Given the description of an element on the screen output the (x, y) to click on. 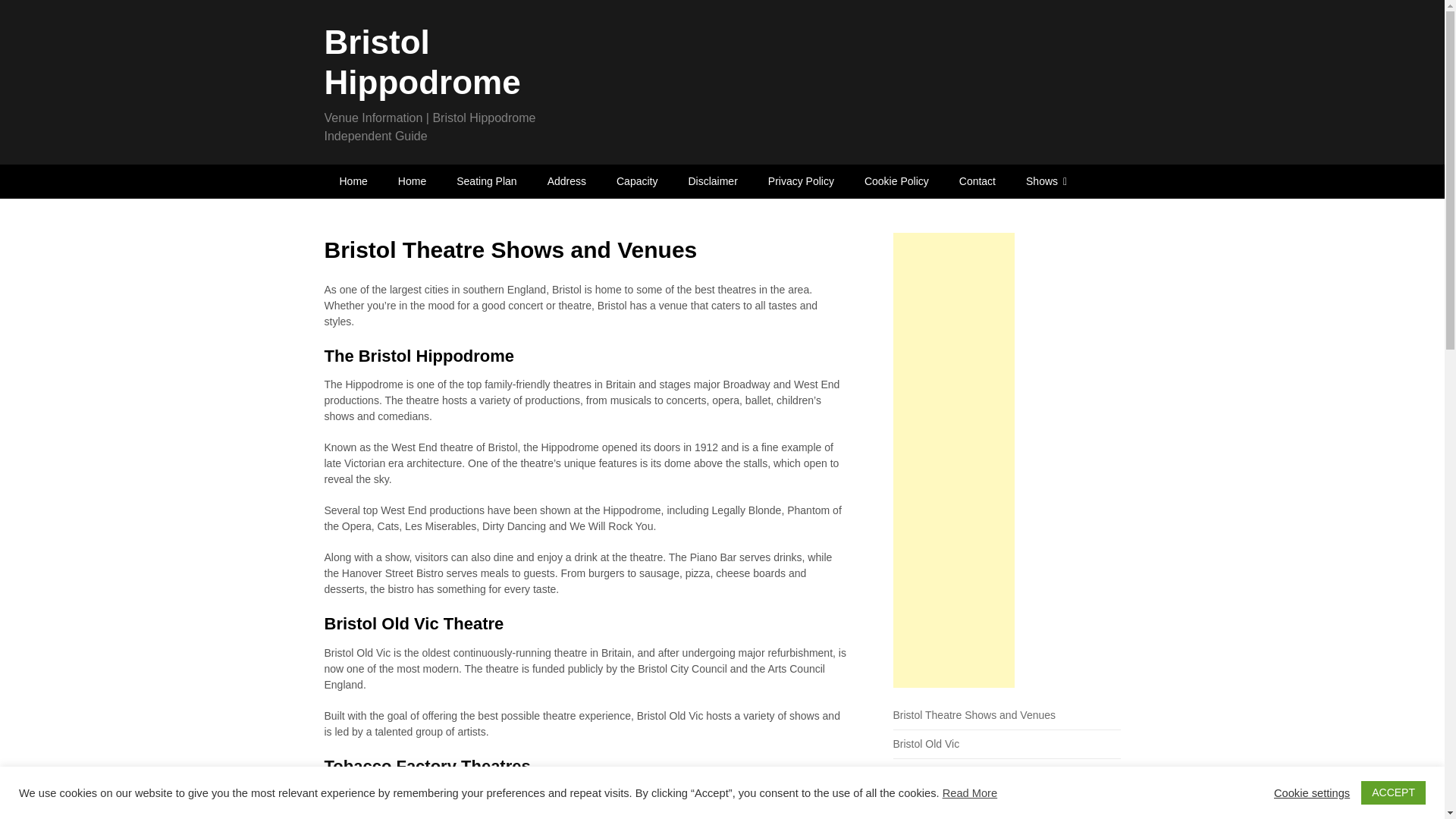
Pubs in Bristol (926, 801)
Address (566, 181)
ACCEPT (1393, 792)
Shows (1045, 181)
Cookie settings (1311, 792)
Home (353, 181)
Home (411, 181)
Capacity (636, 181)
Cookie Policy (895, 181)
Contact (976, 181)
Read More (969, 793)
Things to Do in Bristol (945, 772)
Disclaimer (712, 181)
Privacy Policy (800, 181)
Seating Plan (486, 181)
